Given the description of an element on the screen output the (x, y) to click on. 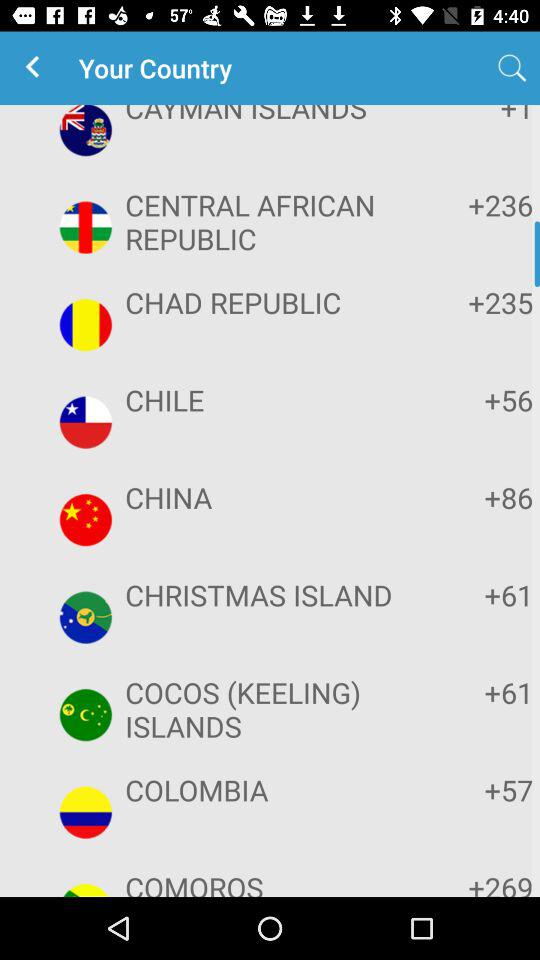
turn off +235 item (471, 302)
